Given the description of an element on the screen output the (x, y) to click on. 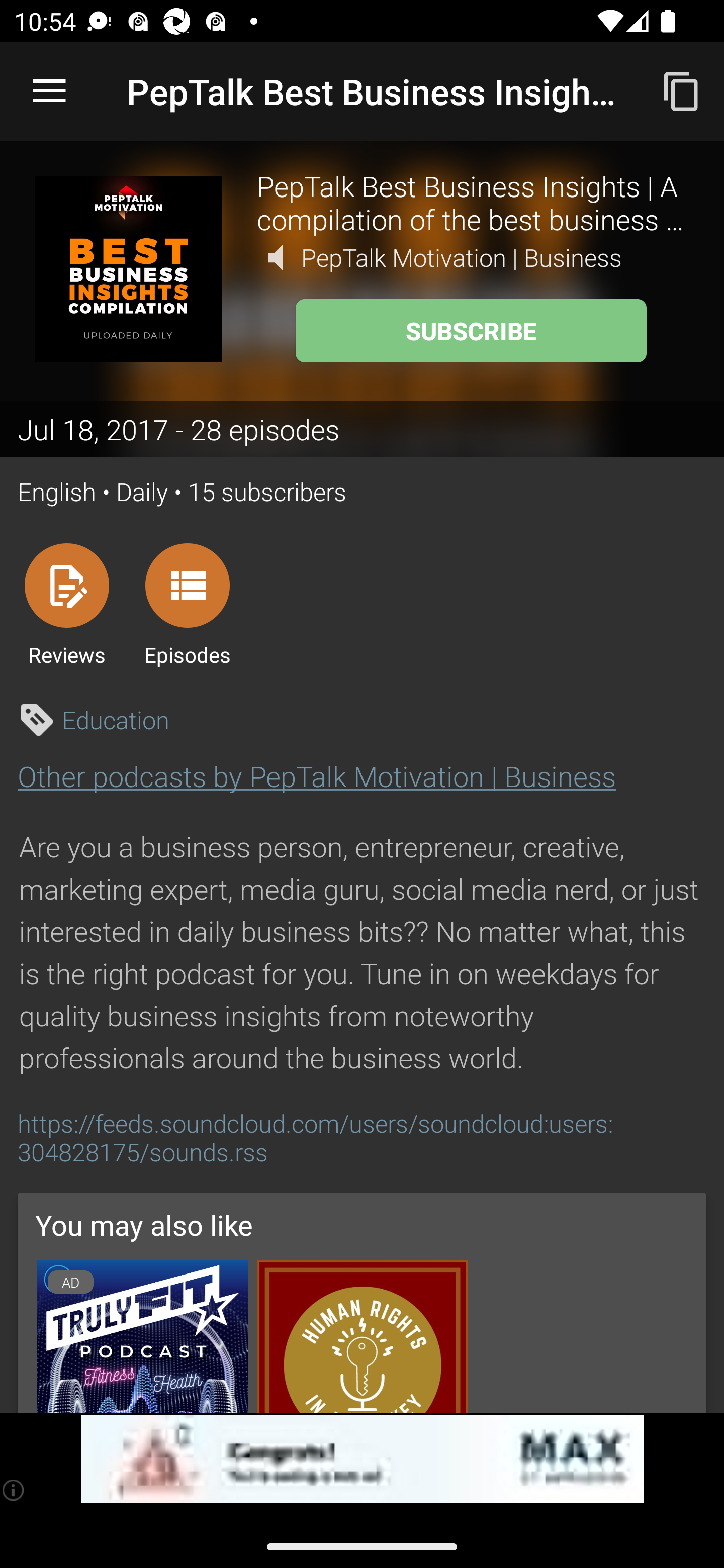
Open navigation sidebar (49, 91)
Copy feed url to clipboard (681, 90)
SUBSCRIBE (470, 330)
Reviews (66, 604)
Episodes (187, 604)
Other podcasts by PepTalk Motivation | Business (316, 775)
AD (142, 1336)
